Given the description of an element on the screen output the (x, y) to click on. 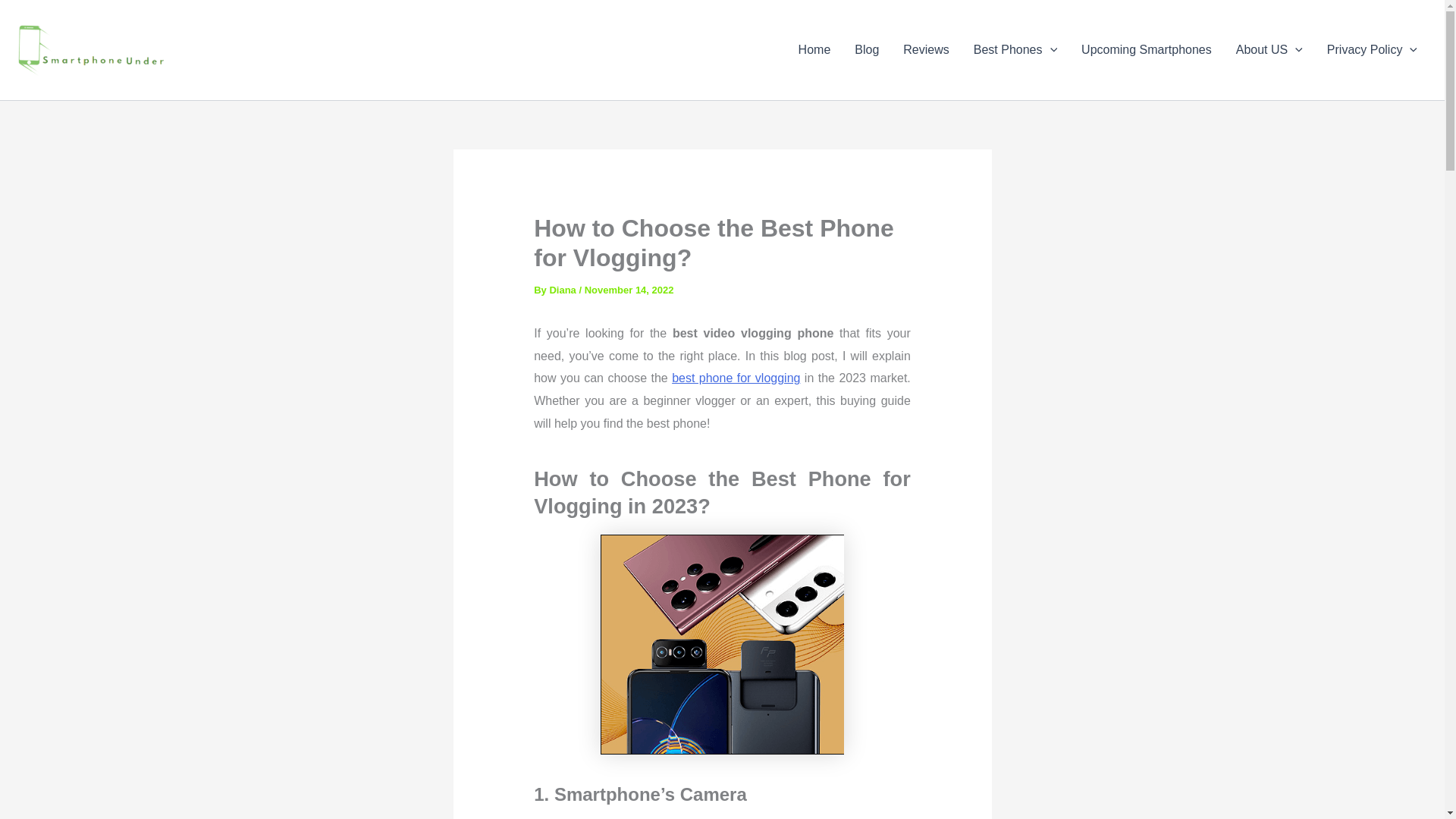
Best Phones (1014, 49)
About US (1269, 49)
Home (814, 49)
Privacy Policy (1371, 49)
Upcoming Smartphones (1146, 49)
Diana (563, 289)
best phone for vlogging (735, 377)
Reviews (925, 49)
View all posts by Diana (563, 289)
